Given the description of an element on the screen output the (x, y) to click on. 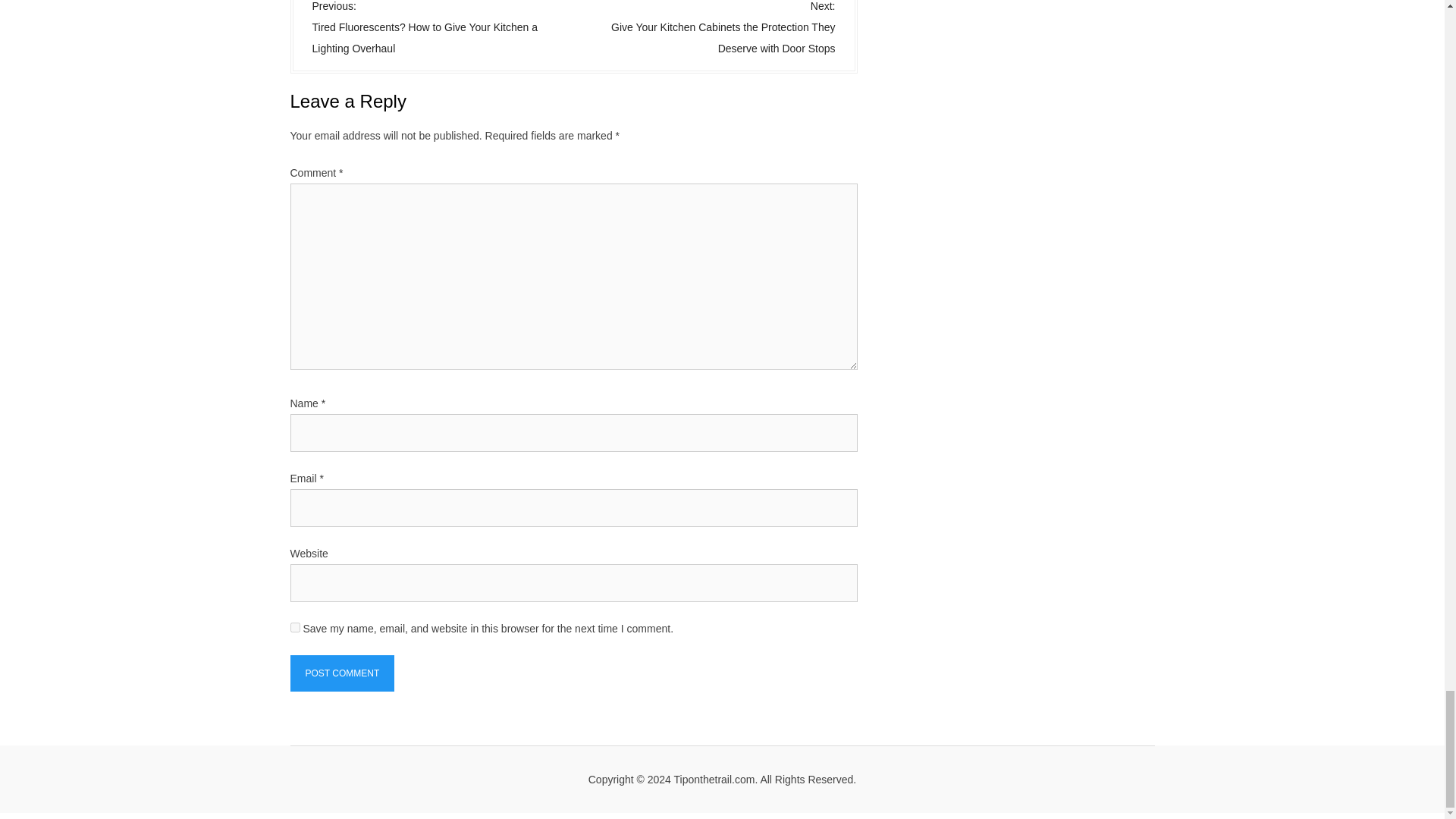
yes (294, 627)
Post Comment (341, 673)
Post Comment (341, 673)
